Given the description of an element on the screen output the (x, y) to click on. 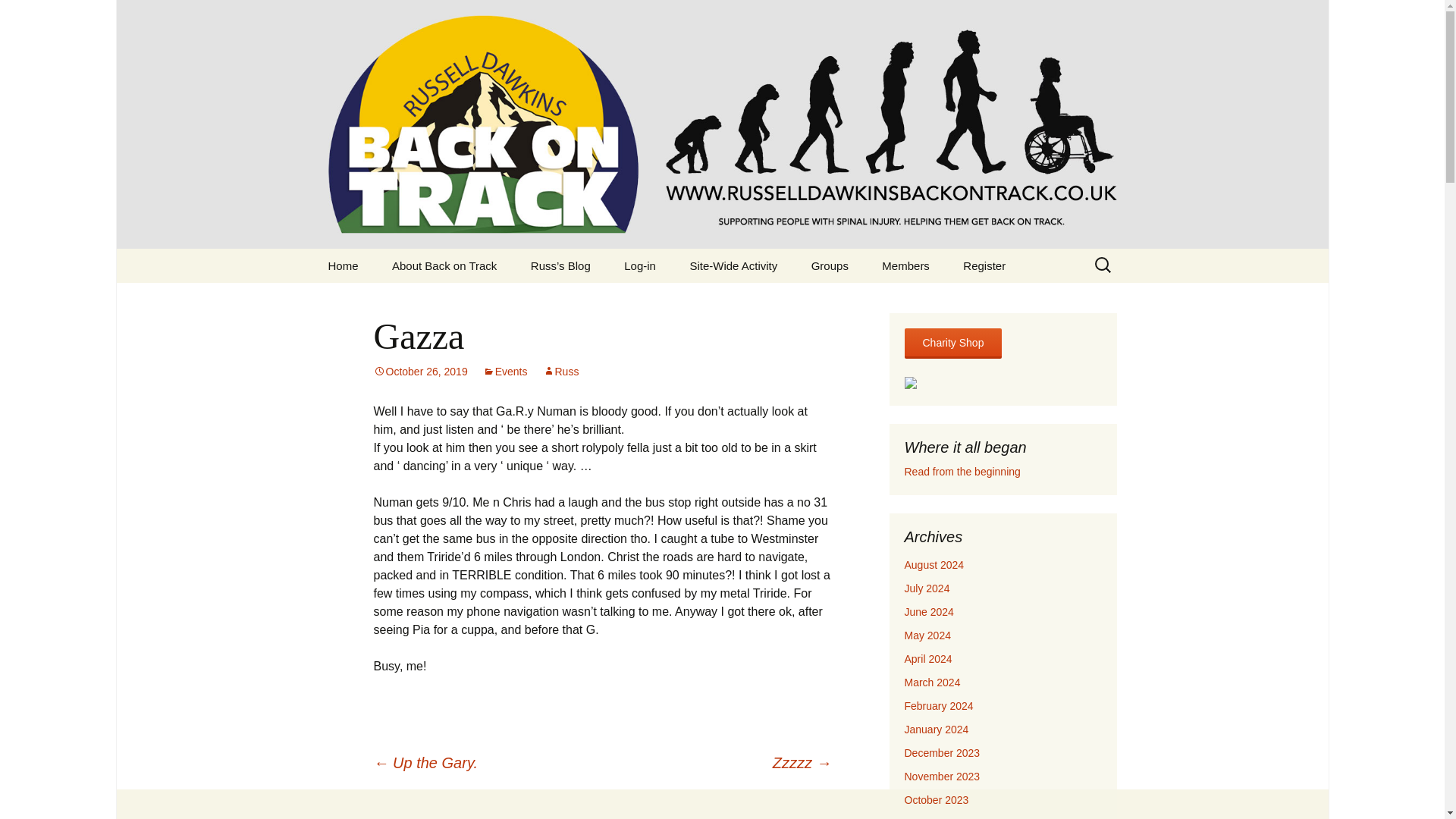
Charity Shop (952, 342)
Site-Wide Activity (733, 265)
October 2023 (936, 799)
June 2024 (928, 612)
Home (342, 265)
Permalink to Gazza (419, 371)
View all posts by Russ (561, 371)
May 2024 (927, 635)
